Given the description of an element on the screen output the (x, y) to click on. 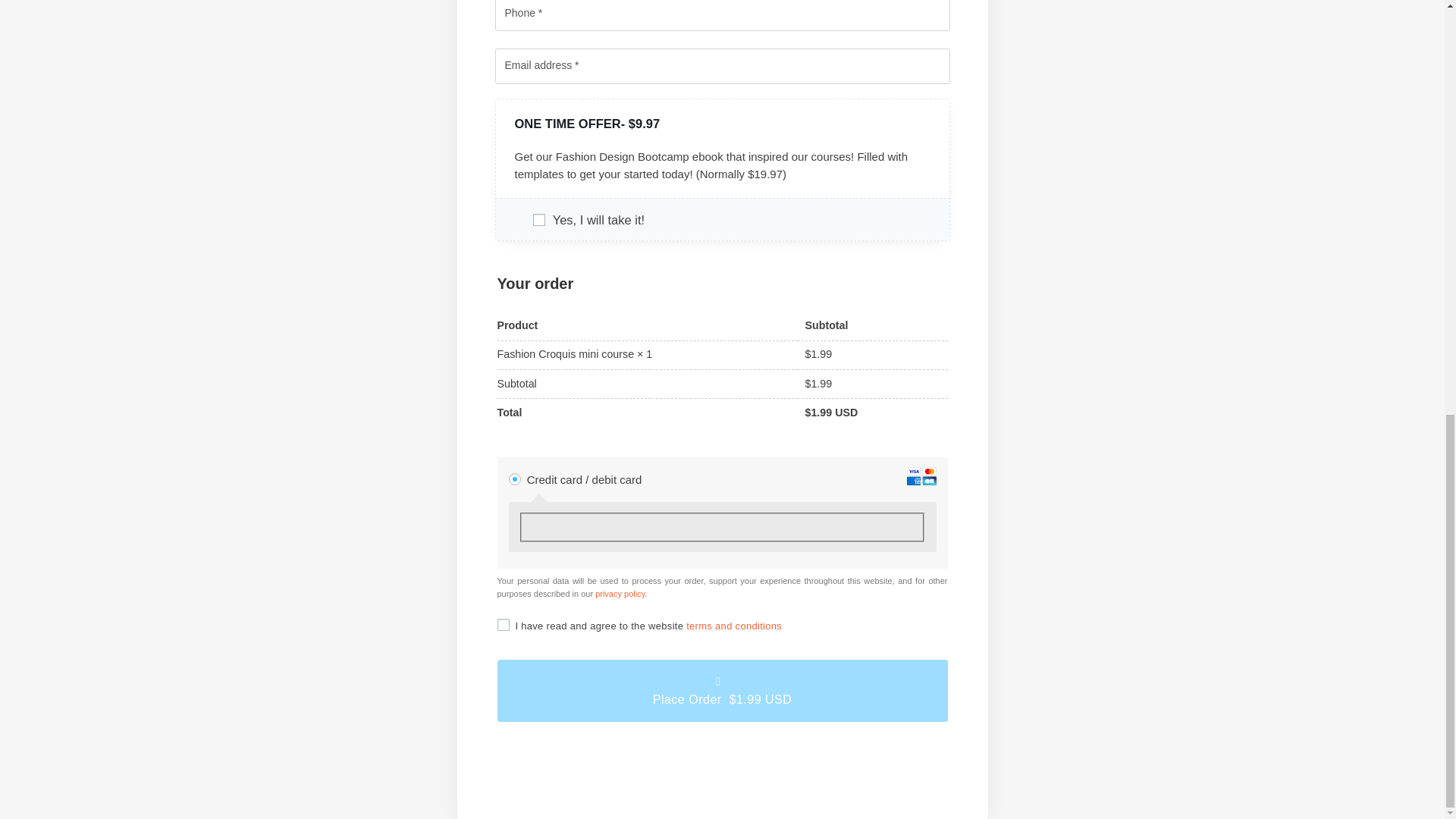
privacy policy (620, 593)
b7f (538, 219)
terms and conditions (733, 625)
on (503, 624)
